Given the description of an element on the screen output the (x, y) to click on. 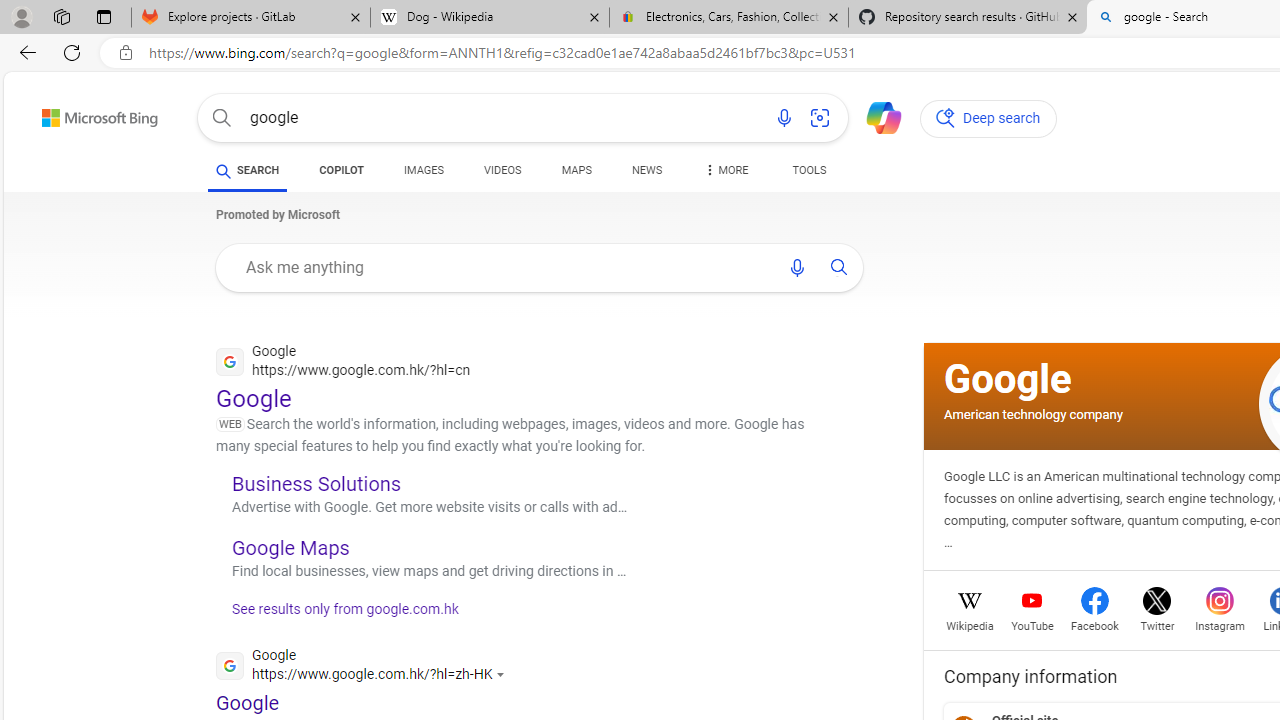
Google Maps (290, 547)
YouTube (1032, 624)
Wikipedia (969, 624)
American technology company (1033, 413)
Business Solutions (316, 483)
COPILOT (341, 170)
MAPS (576, 173)
See results only from google.com.hk (337, 614)
